Given the description of an element on the screen output the (x, y) to click on. 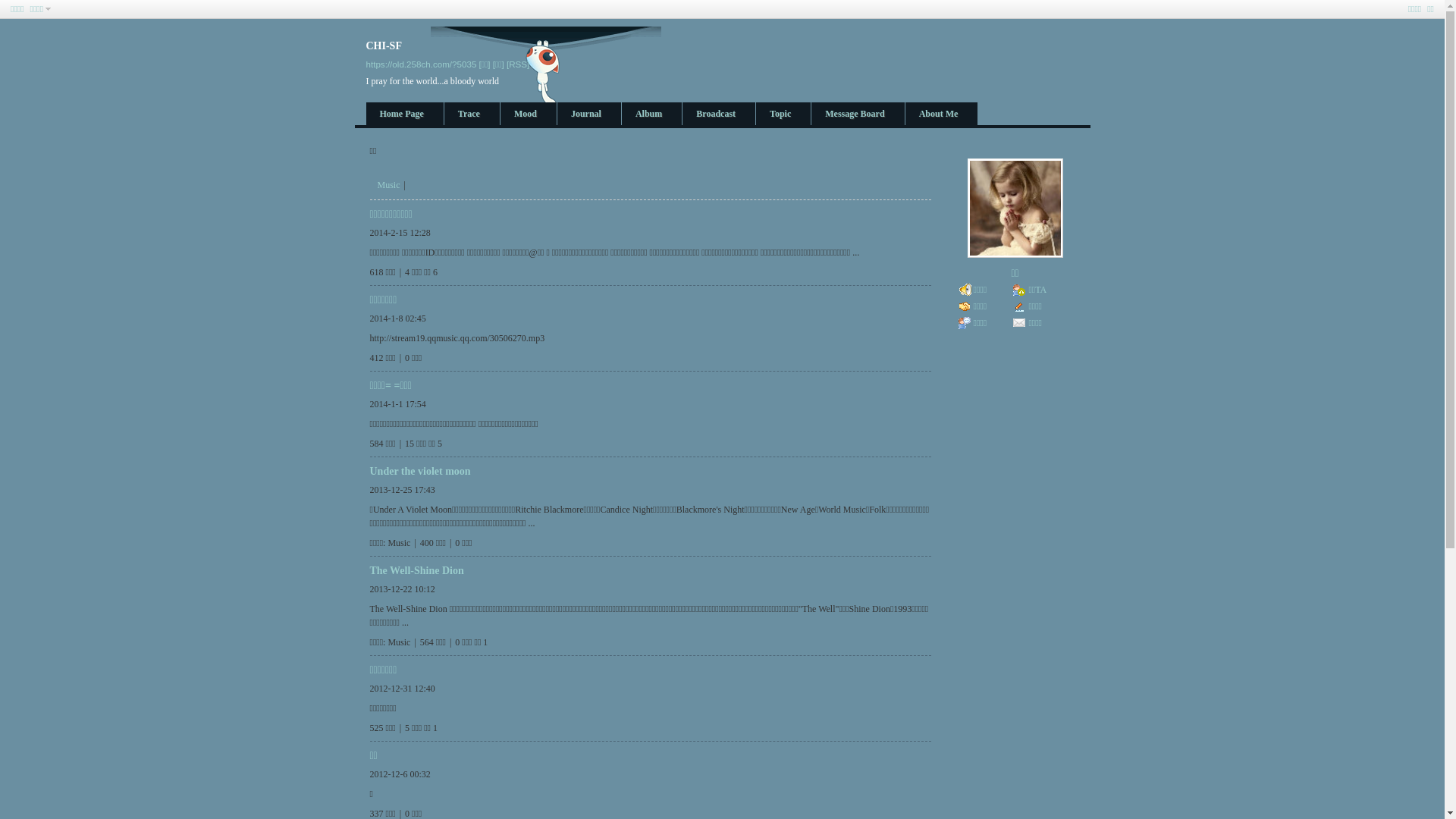
https://old.258ch.com/?5035 Element type: text (420, 64)
Home Page Element type: text (404, 114)
About Me Element type: text (941, 114)
Topic Element type: text (783, 114)
Trace Element type: text (471, 114)
Journal Element type: text (588, 114)
Album Element type: text (651, 114)
[RSS] Element type: text (517, 64)
The Well-Shine Dion Element type: text (417, 570)
Music Element type: text (398, 642)
Music Element type: text (388, 184)
Message Board Element type: text (857, 114)
Broadcast Element type: text (718, 114)
Mood Element type: text (528, 114)
Music Element type: text (398, 542)
Under the violet moon Element type: text (420, 470)
